Given the description of an element on the screen output the (x, y) to click on. 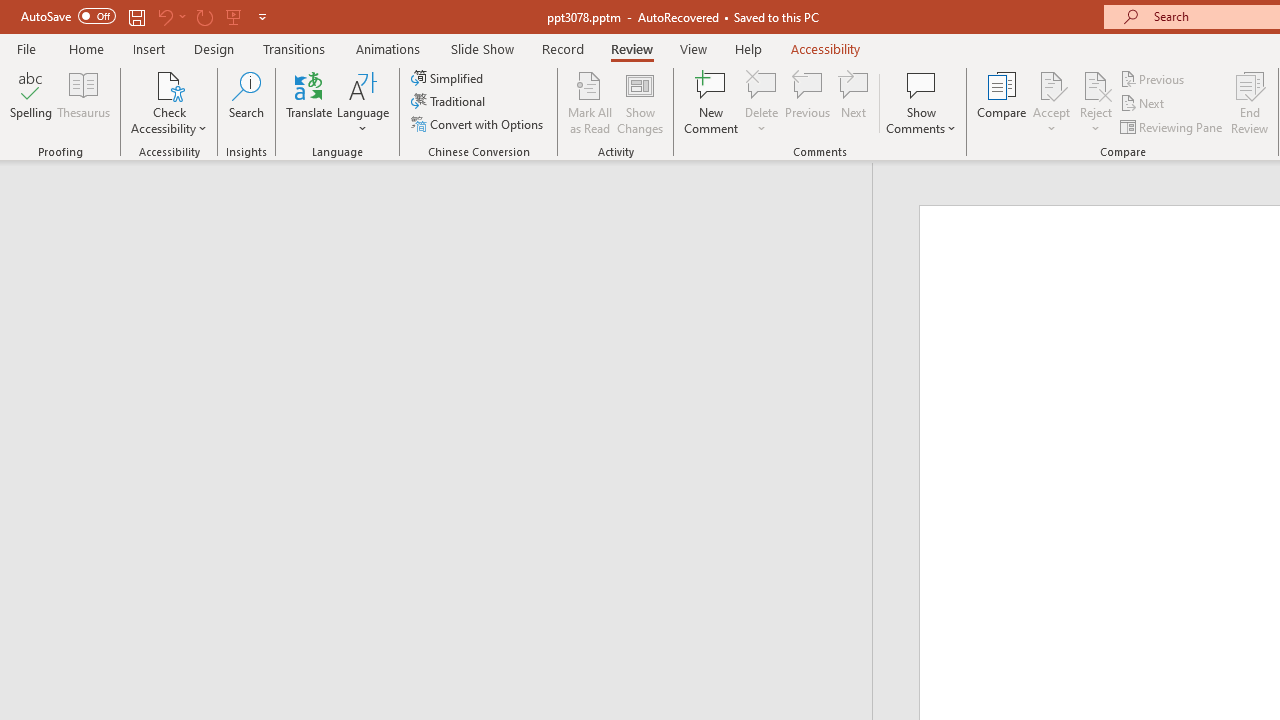
Check Accessibility (169, 84)
Mark All as Read (589, 102)
Traditional (449, 101)
